Given the description of an element on the screen output the (x, y) to click on. 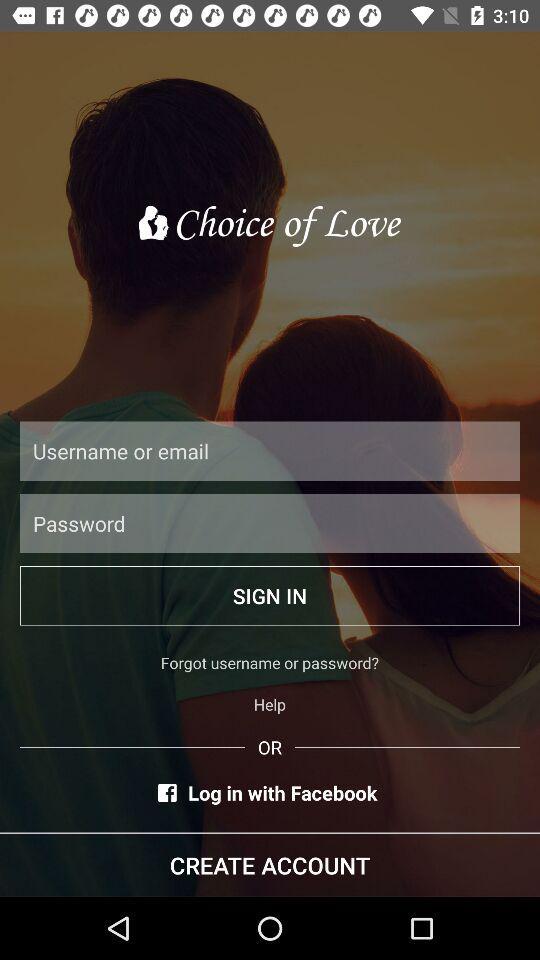
turn off icon above or icon (269, 703)
